Given the description of an element on the screen output the (x, y) to click on. 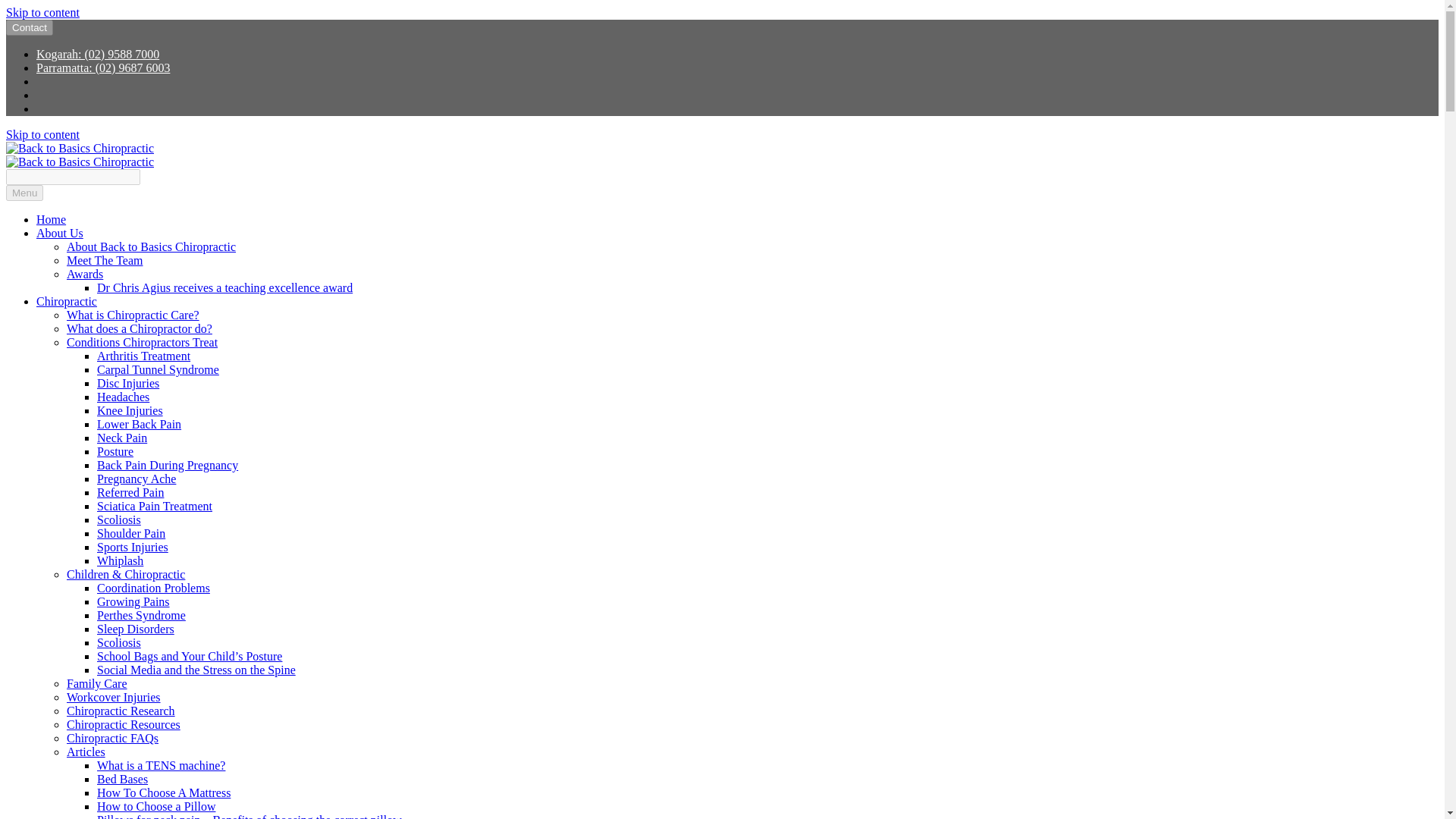
Coordination Problems (153, 587)
Neck Pain (122, 437)
Scoliosis (119, 519)
Referred Pain (130, 492)
Sports Injuries (132, 546)
Skip to content (42, 133)
Lower Back Pain (138, 423)
Skip to content (42, 133)
Knee Injuries (130, 410)
Carpal Tunnel Syndrome (158, 369)
